Given the description of an element on the screen output the (x, y) to click on. 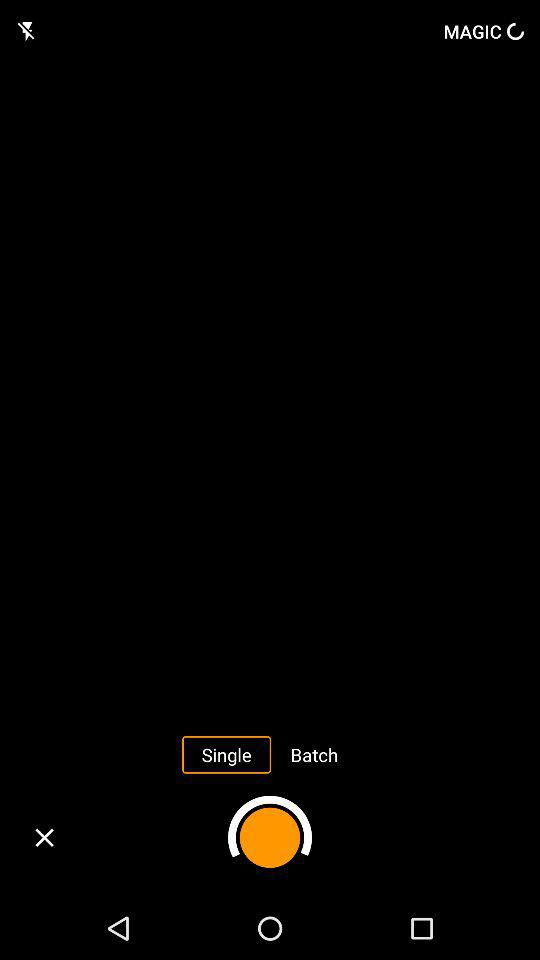
choose item at the bottom left corner (44, 837)
